Given the description of an element on the screen output the (x, y) to click on. 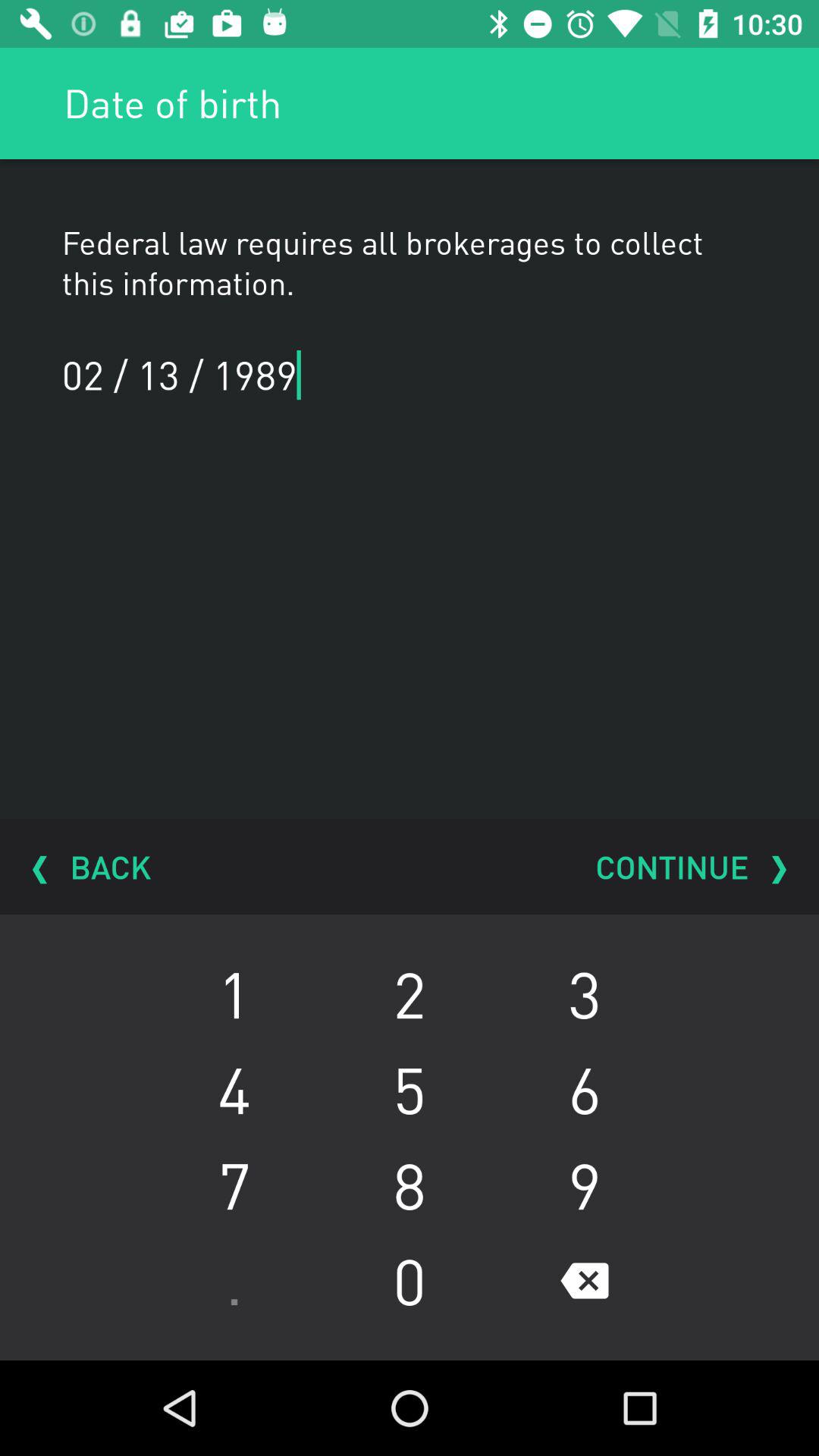
choose the . item (233, 1280)
